Given the description of an element on the screen output the (x, y) to click on. 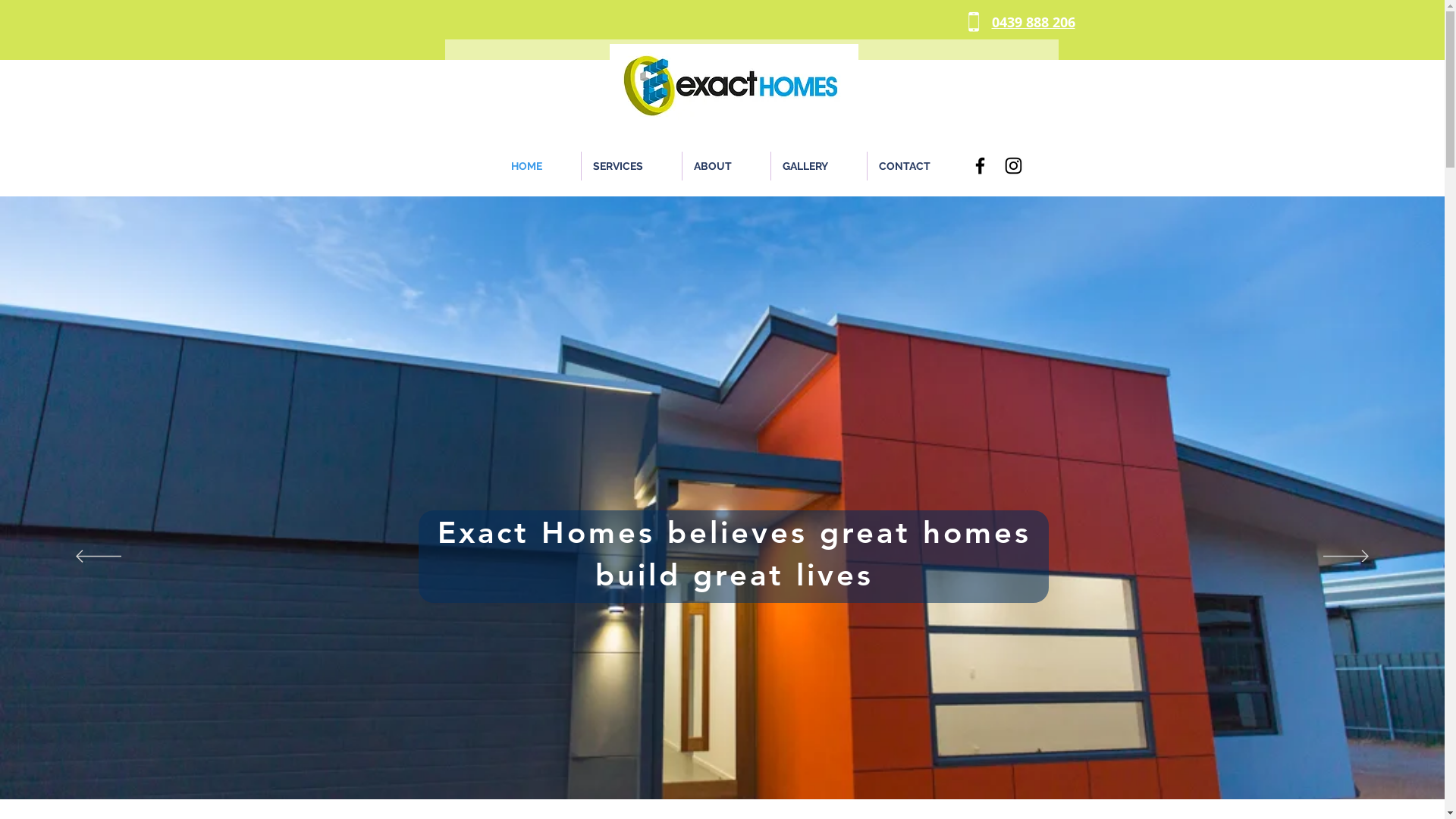
HOME Element type: text (539, 165)
ABOUT Element type: text (726, 165)
0439 888 206 Element type: text (1033, 21)
SERVICES Element type: text (630, 165)
CONTACT Element type: text (918, 165)
GALLERY Element type: text (818, 165)
